Given the description of an element on the screen output the (x, y) to click on. 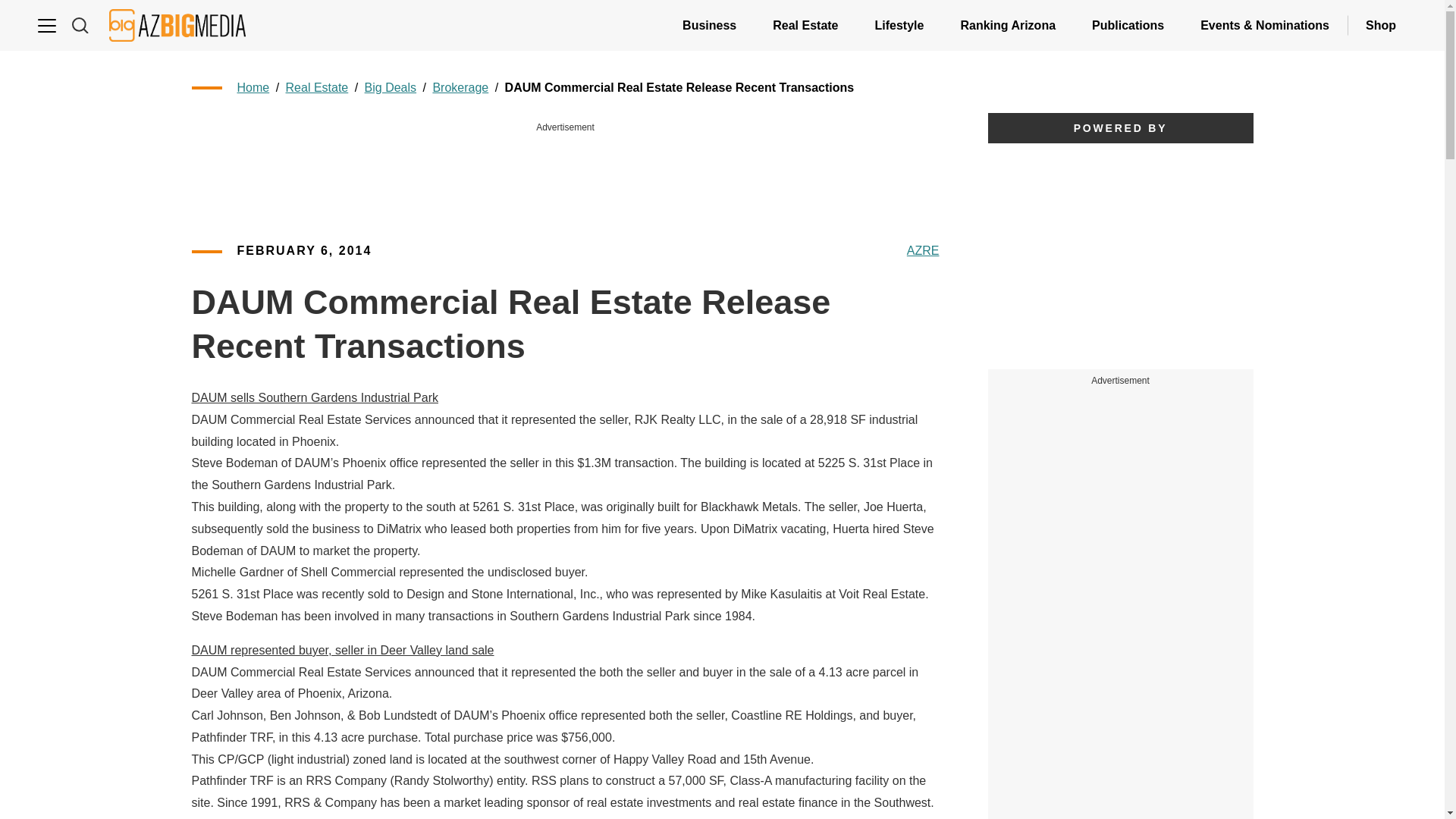
Business (708, 25)
3rd party ad content (1120, 504)
Posts by AZRE (923, 251)
3rd party ad content (1119, 256)
3rd party ad content (1120, 712)
3rd party ad content (565, 169)
AZ Big Media Logo (177, 25)
